Given the description of an element on the screen output the (x, y) to click on. 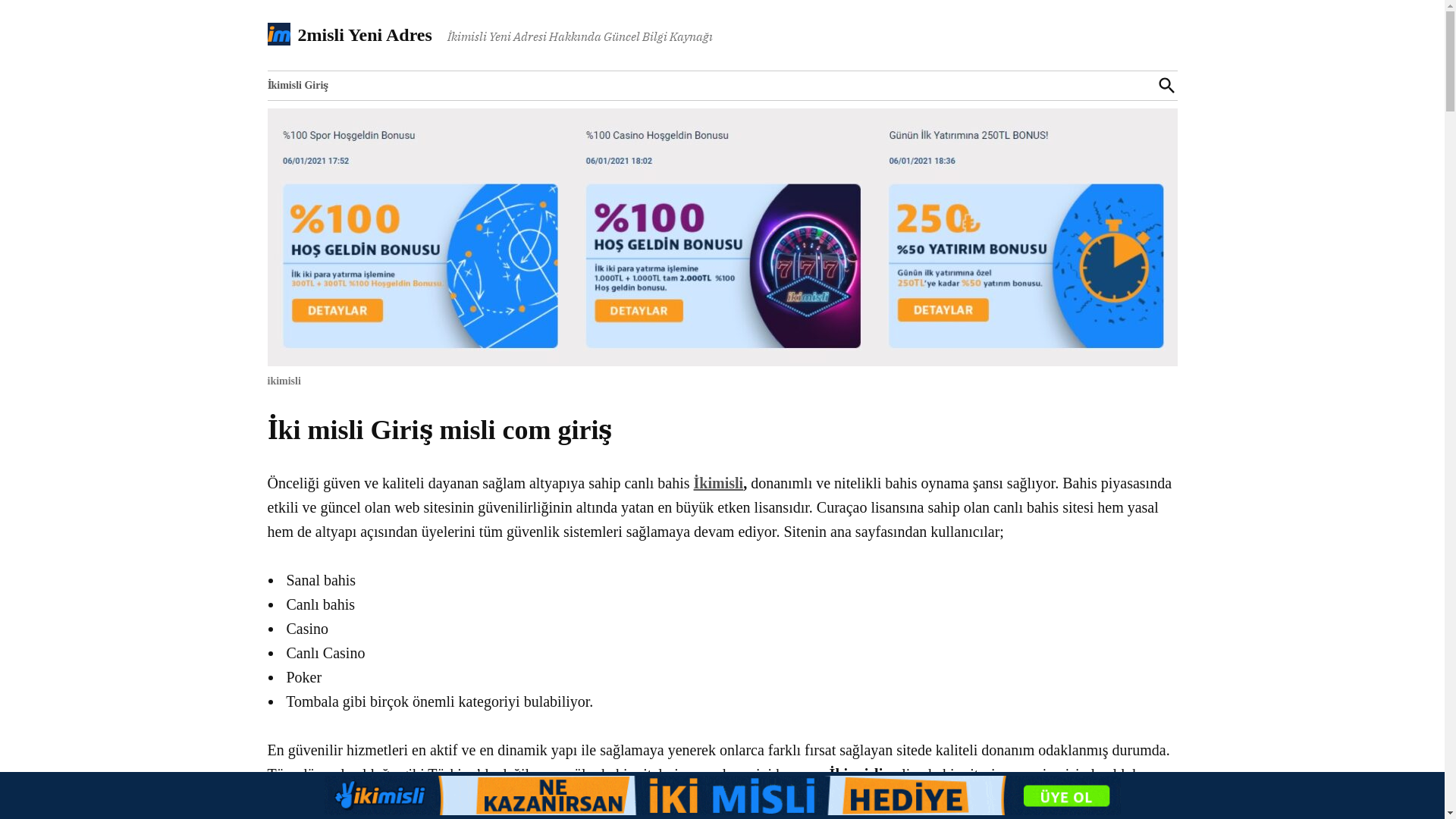
Open Search Element type: text (1165, 85)
2misli Yeni Adres Element type: text (364, 34)
